Given the description of an element on the screen output the (x, y) to click on. 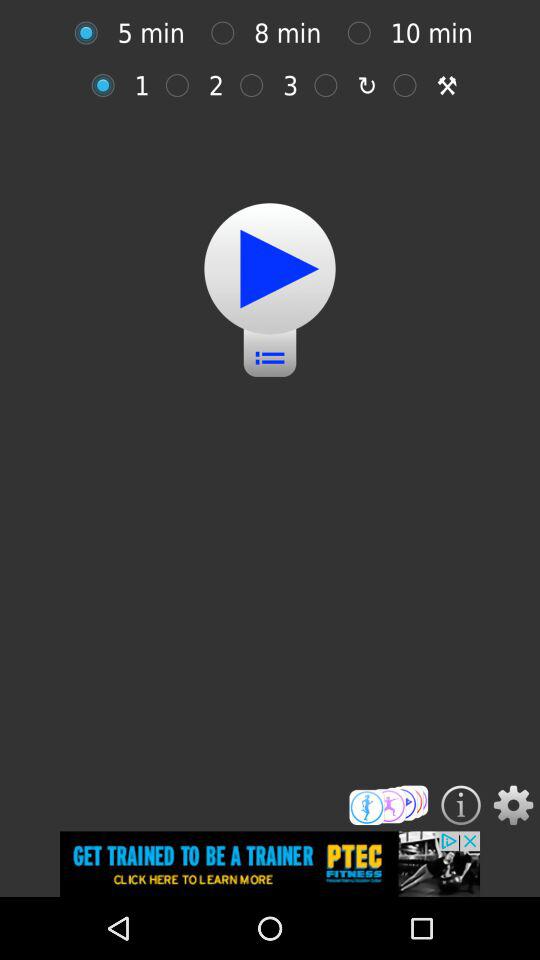
exercise option two (182, 85)
